Given the description of an element on the screen output the (x, y) to click on. 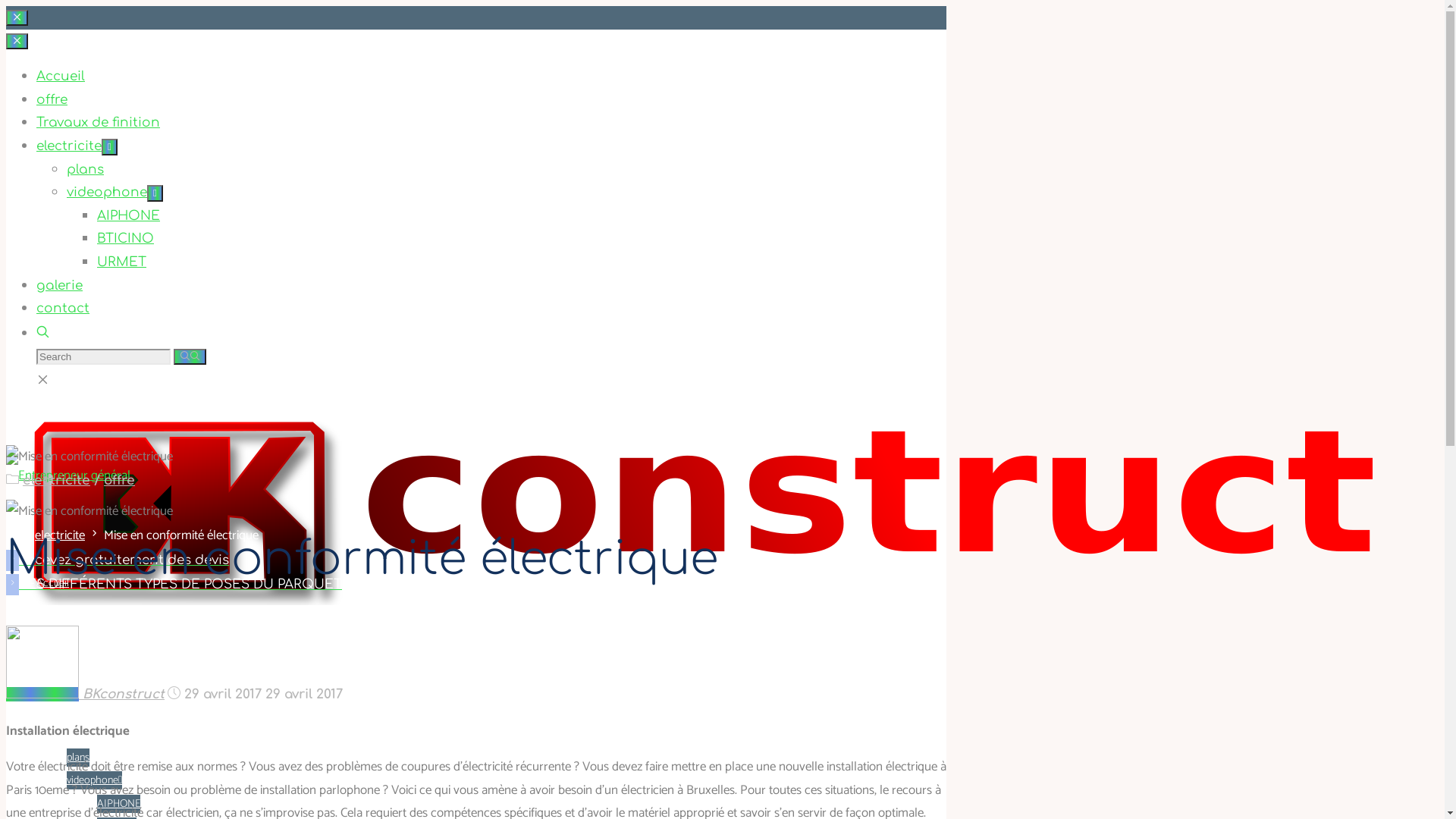
electricite Element type: text (59, 535)
videophone Element type: text (94, 780)
offre Element type: text (46, 629)
BTICINO Element type: text (125, 238)
Categories Element type: hover (12, 480)
AIPHONE Element type: text (118, 803)
AIPHONE Element type: text (128, 215)
Search Element type: text (42, 333)
BKconstruct Element type: text (121, 694)
Home Element type: text (12, 535)
plans Element type: text (77, 756)
electricite Element type: text (68, 145)
Recevez gratuitement des devis Element type: text (123, 559)
Skip to content Element type: text (5, 5)
electricite Element type: text (56, 480)
Travaux de finition Element type: text (75, 674)
contact Element type: text (62, 308)
galerie Element type: text (59, 285)
electricite Element type: text (59, 721)
offre Element type: text (51, 99)
videophone Element type: text (106, 192)
Accueil Element type: text (60, 76)
offre Element type: text (118, 480)
URMET Element type: text (121, 261)
Search Element type: text (189, 356)
plans Element type: text (84, 169)
Travaux de finition Element type: text (98, 122)
Accueil Element type: text (52, 582)
Date Element type: hover (173, 694)
